Given the description of an element on the screen output the (x, y) to click on. 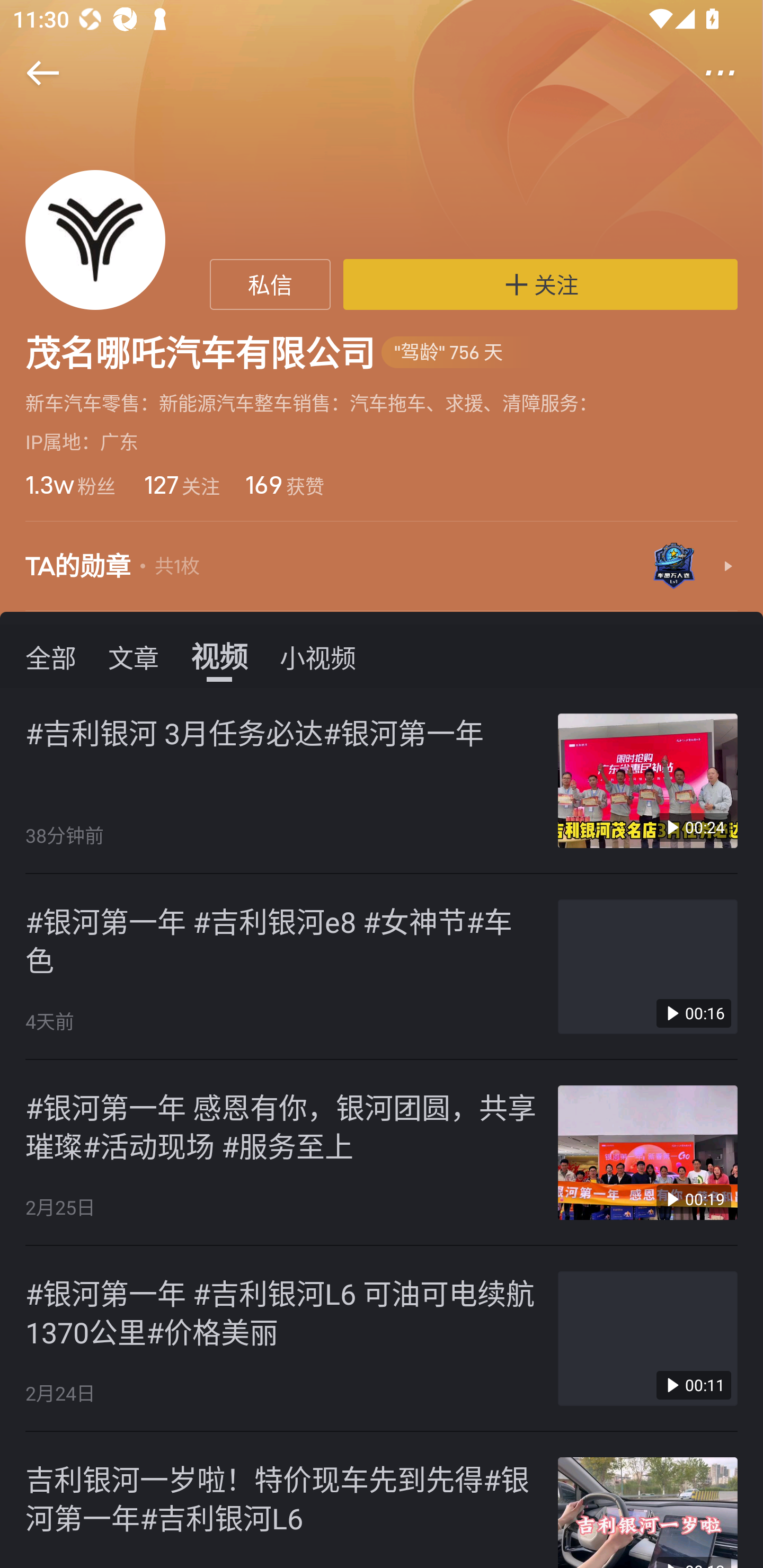
 (30, 72)
 (732, 72)
私信 (269, 284)
 关注 (540, 284)
"驾龄" 756 天 (457, 352)
1.3w 粉丝 (70, 484)
127 关注 (180, 484)
169 获赞 (284, 484)
TA的勋章 共1枚  (381, 566)
全部 (50, 656)
文章 (133, 656)
视频 (218, 656)
小视频 (318, 656)
#吉利银河 3月任务必达#银河第一年 38分钟前  00:24 (381, 780)
#银河第一年 #吉利银河e8 #女神节#车色 4天前  00:16 (381, 966)
#银河第一年 感恩有你，银河团圆，共享璀璨#活动现场 #服务至上 2月25日  00:19 (381, 1152)
#银河第一年 #吉利银河L6 可油可电续航1370公里#价格美丽 2月24日  00:11 (381, 1338)
吉利银河一岁啦！特价现车先到先得#银河第一年#吉利银河L6 2月21日  00:13 (381, 1499)
